Given the description of an element on the screen output the (x, y) to click on. 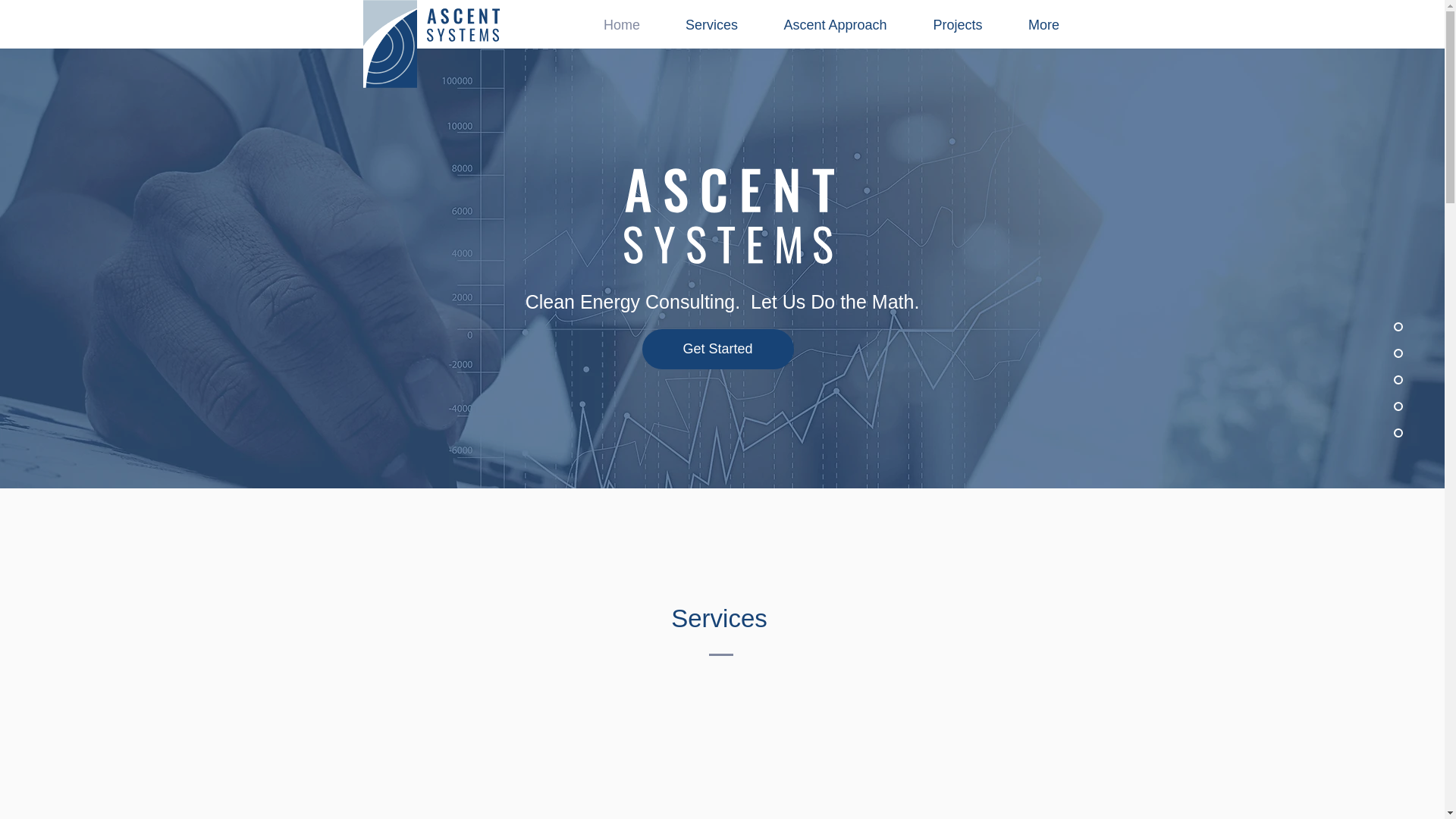
Services (711, 25)
Home (621, 25)
Get Started (717, 349)
Ascent Approach (835, 25)
Projects (958, 25)
